Given the description of an element on the screen output the (x, y) to click on. 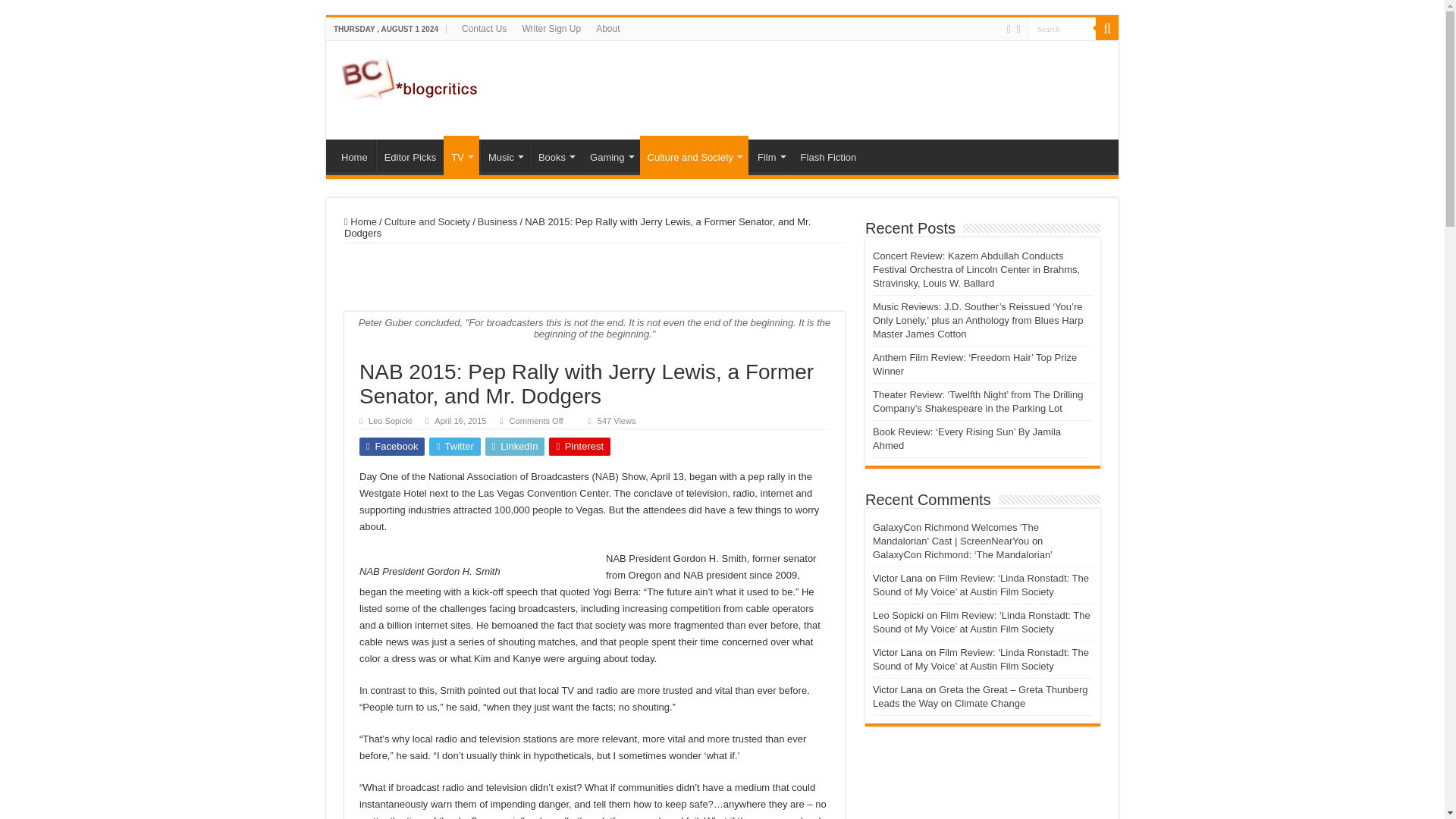
NAB Show site (605, 476)
TV (461, 155)
Home (354, 155)
Search (1061, 28)
Blogcritics (409, 75)
Search (1107, 28)
Writer Sign Up (550, 28)
About (607, 28)
Music (504, 155)
Contact Us (483, 28)
